Given the description of an element on the screen output the (x, y) to click on. 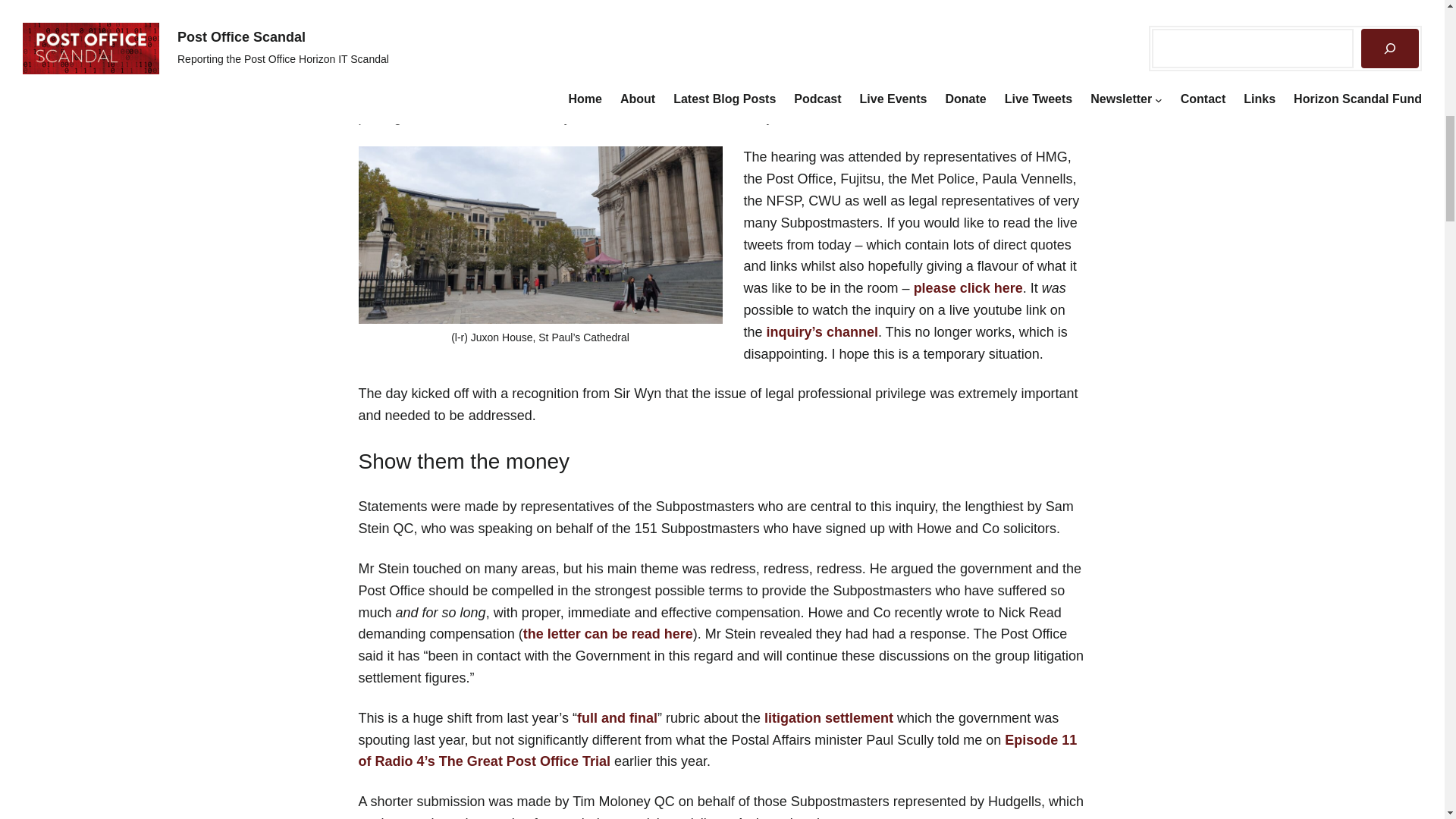
full and final (617, 717)
the letter can be read here (607, 633)
please click here (968, 287)
litigation settlement (828, 717)
